Given the description of an element on the screen output the (x, y) to click on. 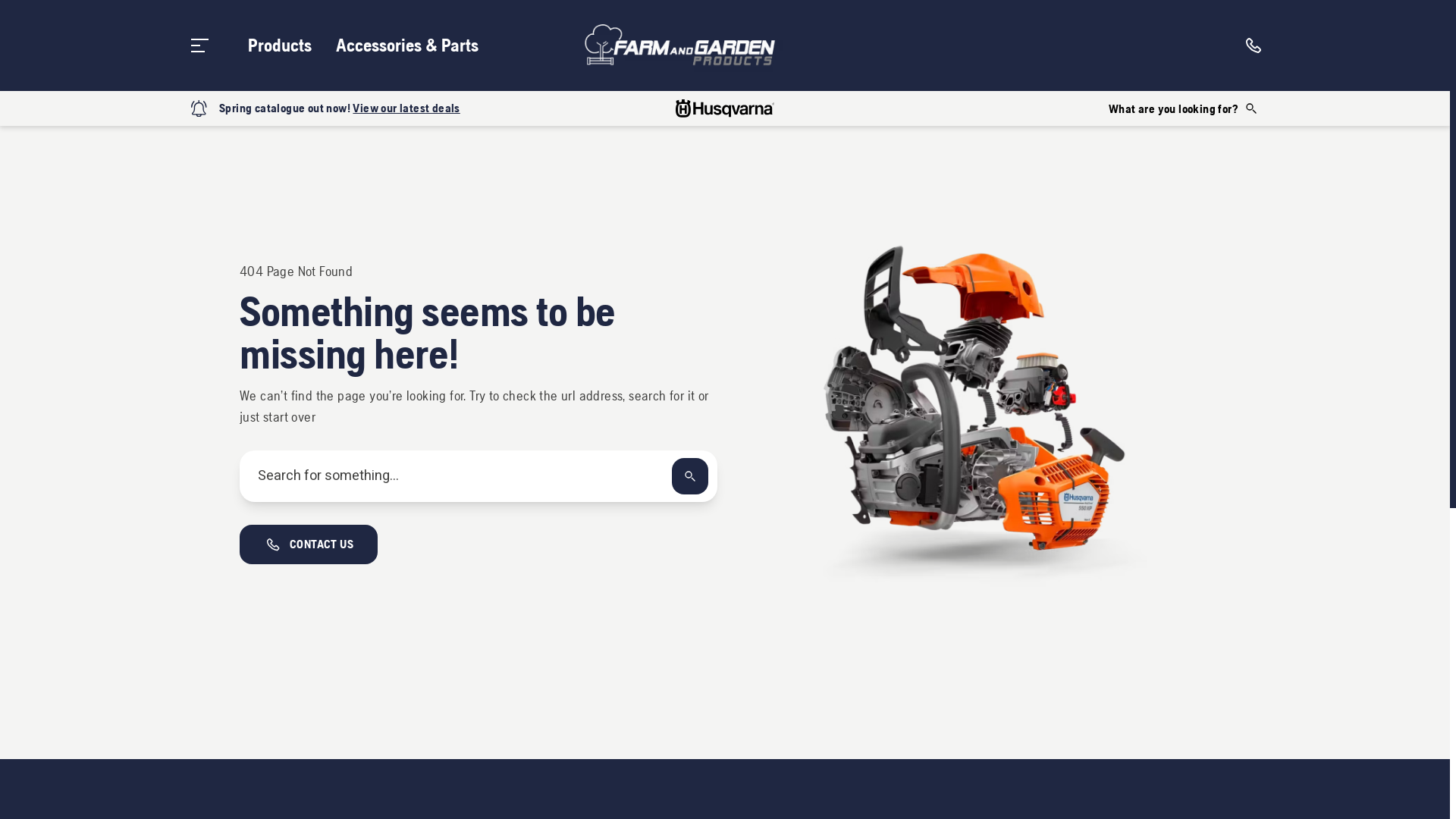
CONTACT US Element type: text (308, 544)
Products Element type: text (279, 45)
Accessories & Parts Element type: text (406, 45)
What are you looking for? Element type: text (1183, 108)
View our latest deals Element type: text (405, 107)
SEARCH Element type: text (689, 476)
